Given the description of an element on the screen output the (x, y) to click on. 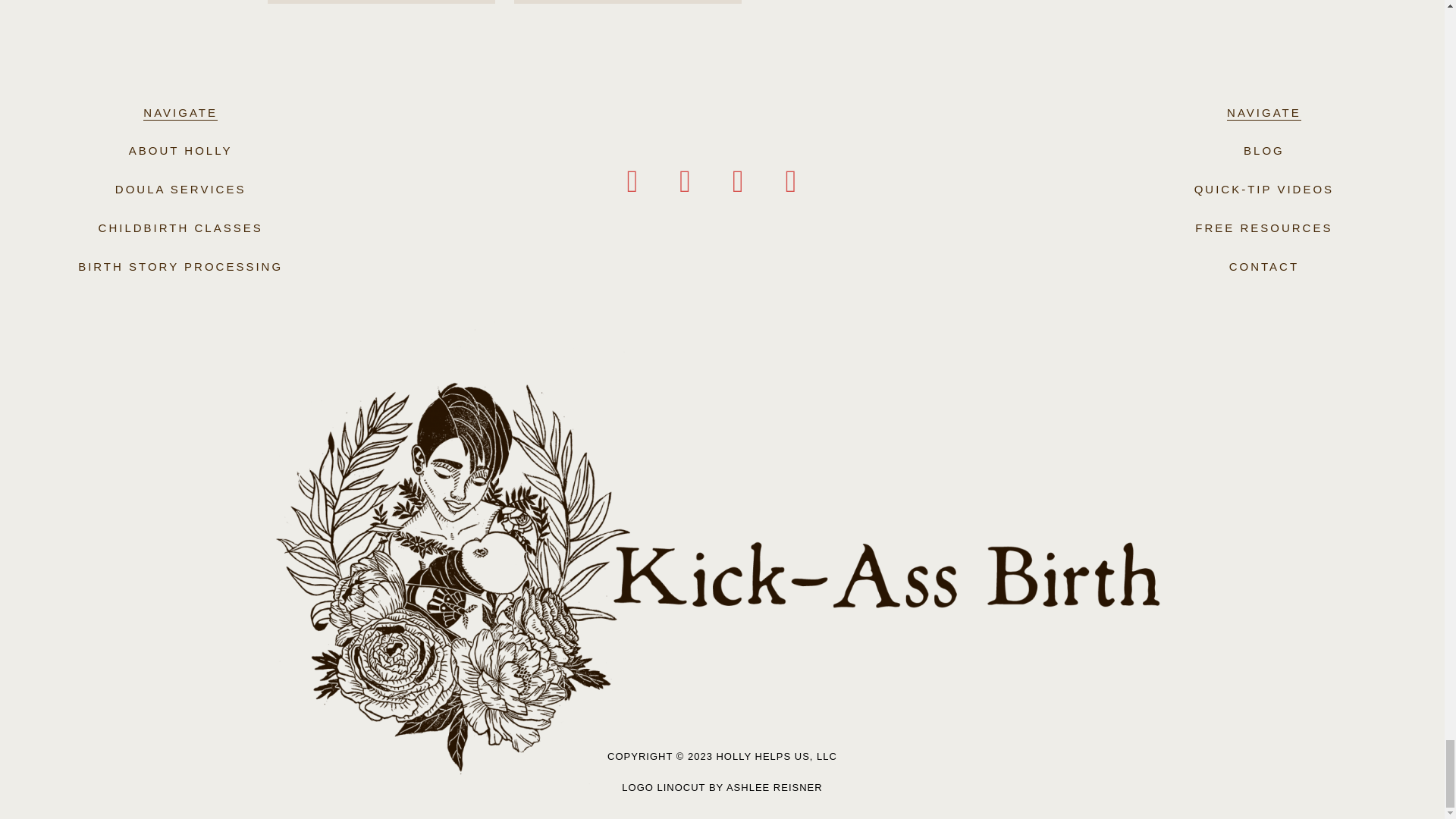
ABOUT HOLLY (180, 150)
BIRTH STORY PROCESSING (180, 266)
FREE RESOURCES (1263, 227)
BLOG (1263, 150)
QUICK-TIP VIDEOS (1263, 188)
DOULA SERVICES (180, 188)
CONTACT (1263, 266)
CHILDBIRTH CLASSES (181, 227)
